Given the description of an element on the screen output the (x, y) to click on. 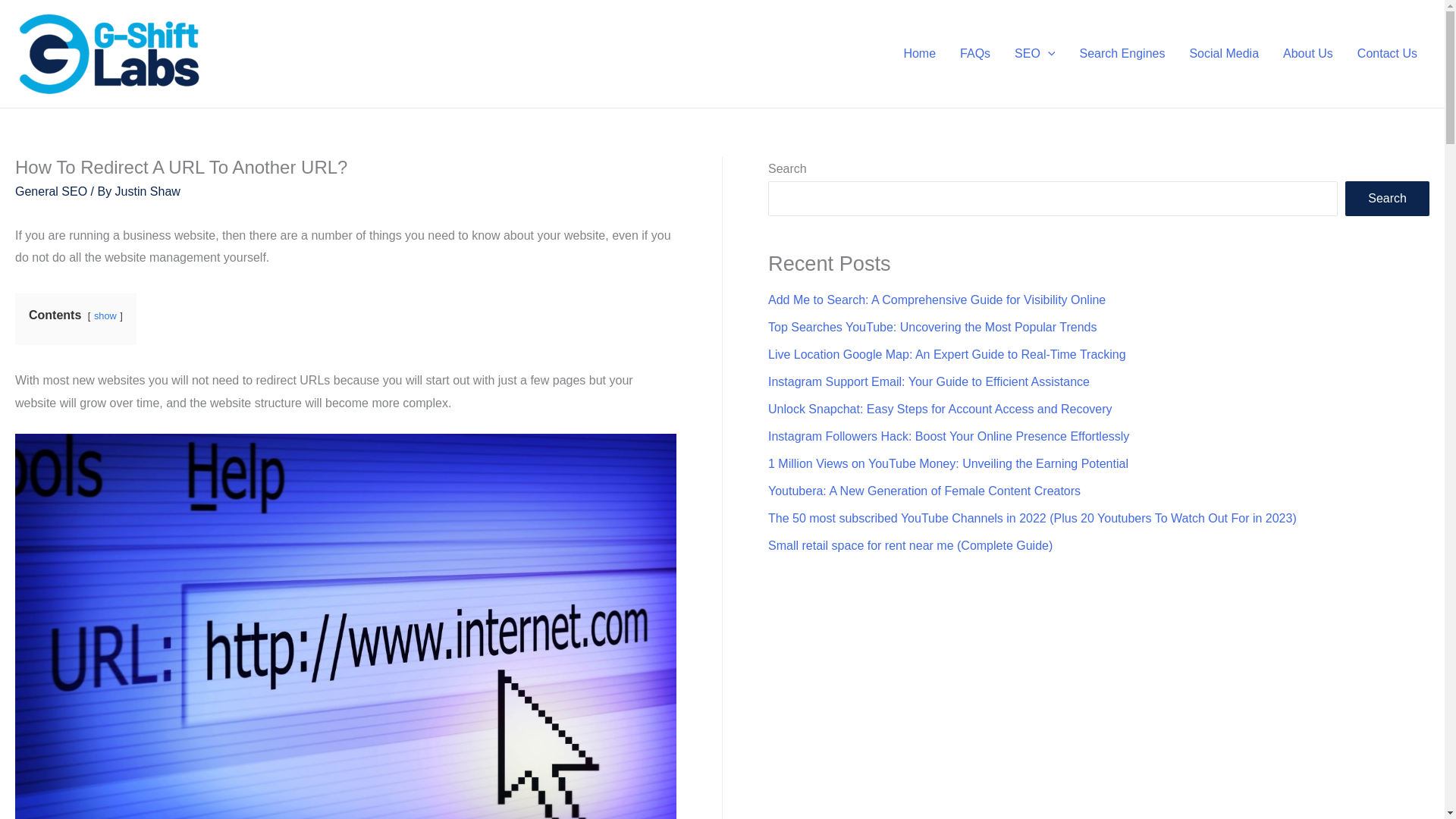
General SEO (50, 191)
SEO (1035, 53)
Search Engines (1121, 53)
Justin Shaw (147, 191)
FAQs (975, 53)
View all posts by Justin Shaw (147, 191)
Contact Us (1387, 53)
Home (919, 53)
Social Media (1223, 53)
show (105, 315)
